Given the description of an element on the screen output the (x, y) to click on. 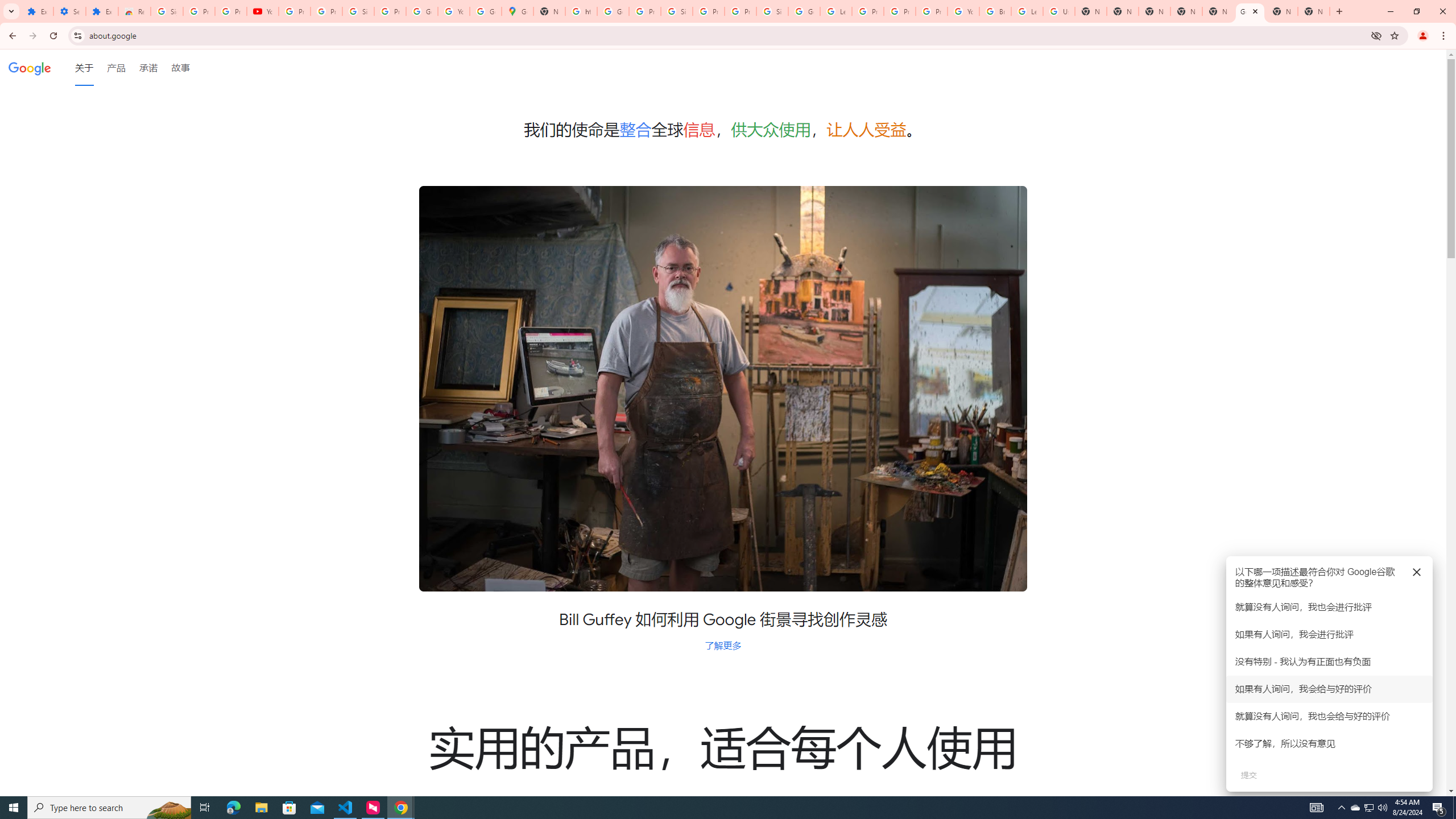
Settings (69, 11)
Extensions (101, 11)
Extensions (37, 11)
https://scholar.google.com/ (581, 11)
